Given the description of an element on the screen output the (x, y) to click on. 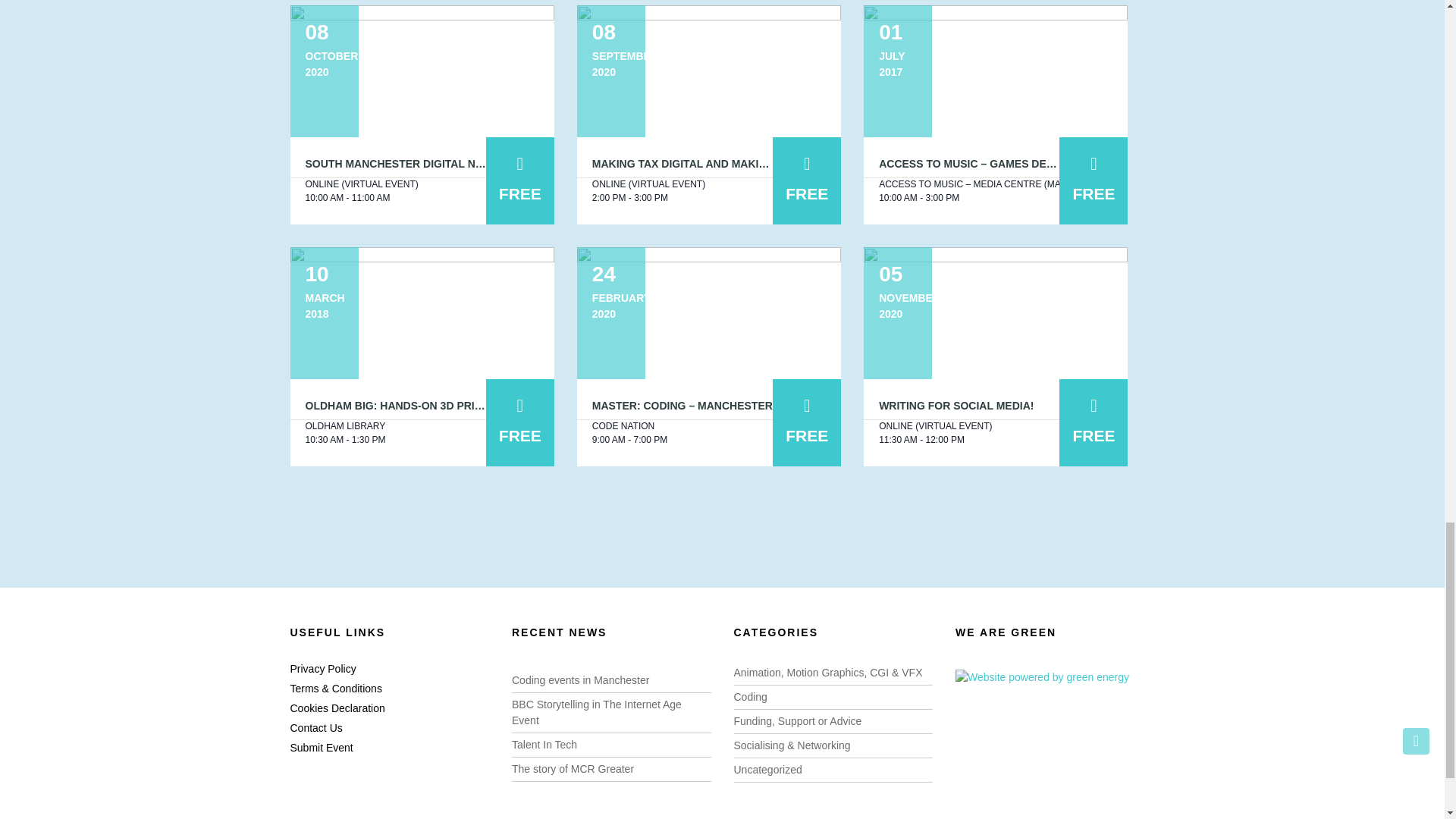
OLDHAM BIG: HANDS-ON 3D PRINTING AT OLDHAM LIBRARY (463, 405)
Making Tax Digital and Making your Business Digital (751, 163)
Oldham BIG: Hands-on 3D Printing at Oldham Library (421, 313)
SOUTH MANCHESTER DIGITAL NETWORK: THE FUTURE OF WORK (476, 163)
MAKING TAX DIGITAL AND MAKING YOUR BUSINESS DIGITAL (751, 163)
South Manchester Digital Network: The Future of Work (421, 70)
Making Tax Digital and Making your Business Digital (708, 70)
South Manchester Digital Network: The Future of Work (476, 163)
